Given the description of an element on the screen output the (x, y) to click on. 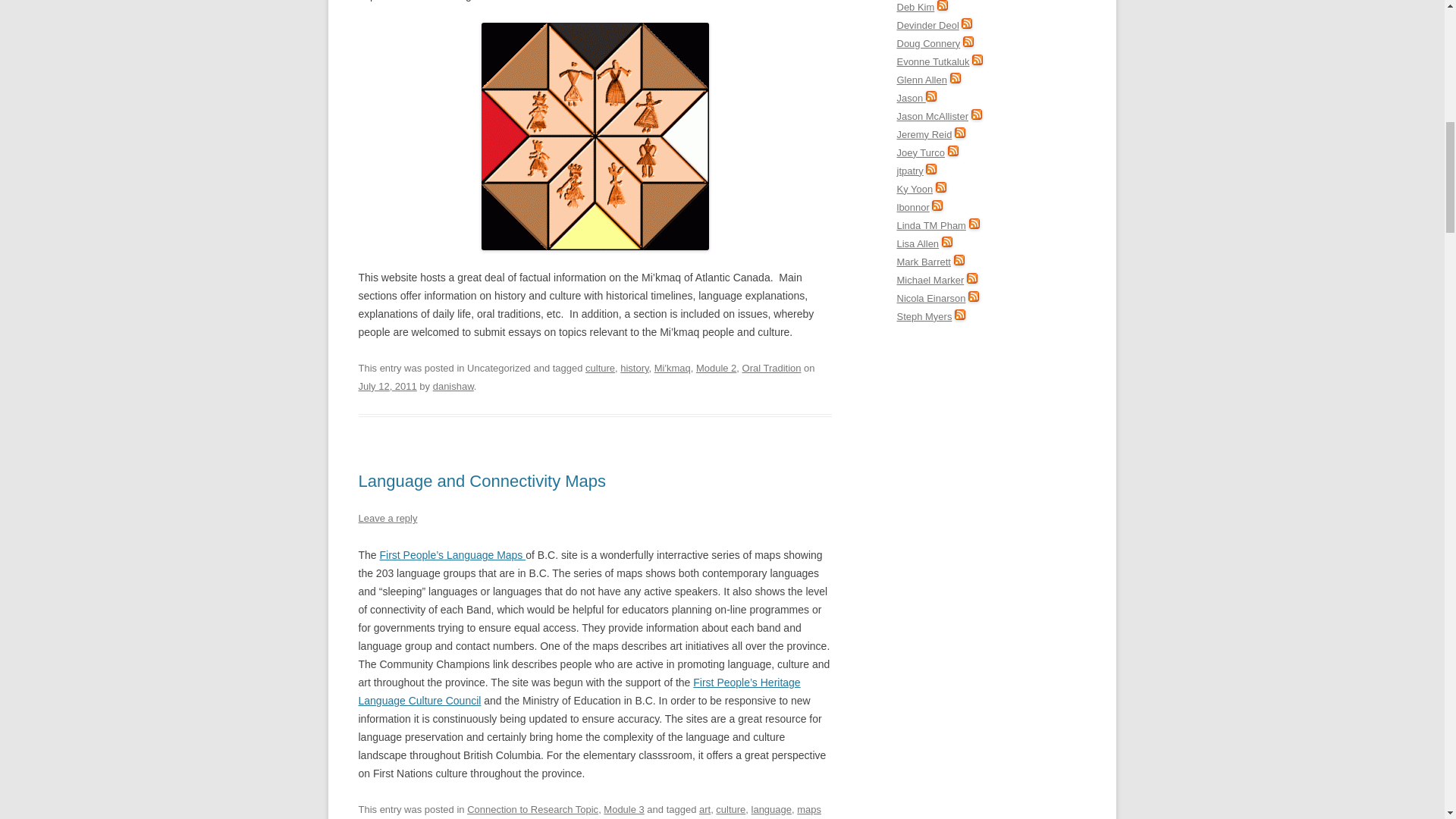
Leave a reply (387, 518)
language (771, 808)
history (633, 367)
Module 2 (715, 367)
art (704, 808)
8:24 am (387, 386)
July 12, 2011 (387, 386)
culture (599, 367)
danishaw (453, 386)
Module 3 (623, 808)
